Given the description of an element on the screen output the (x, y) to click on. 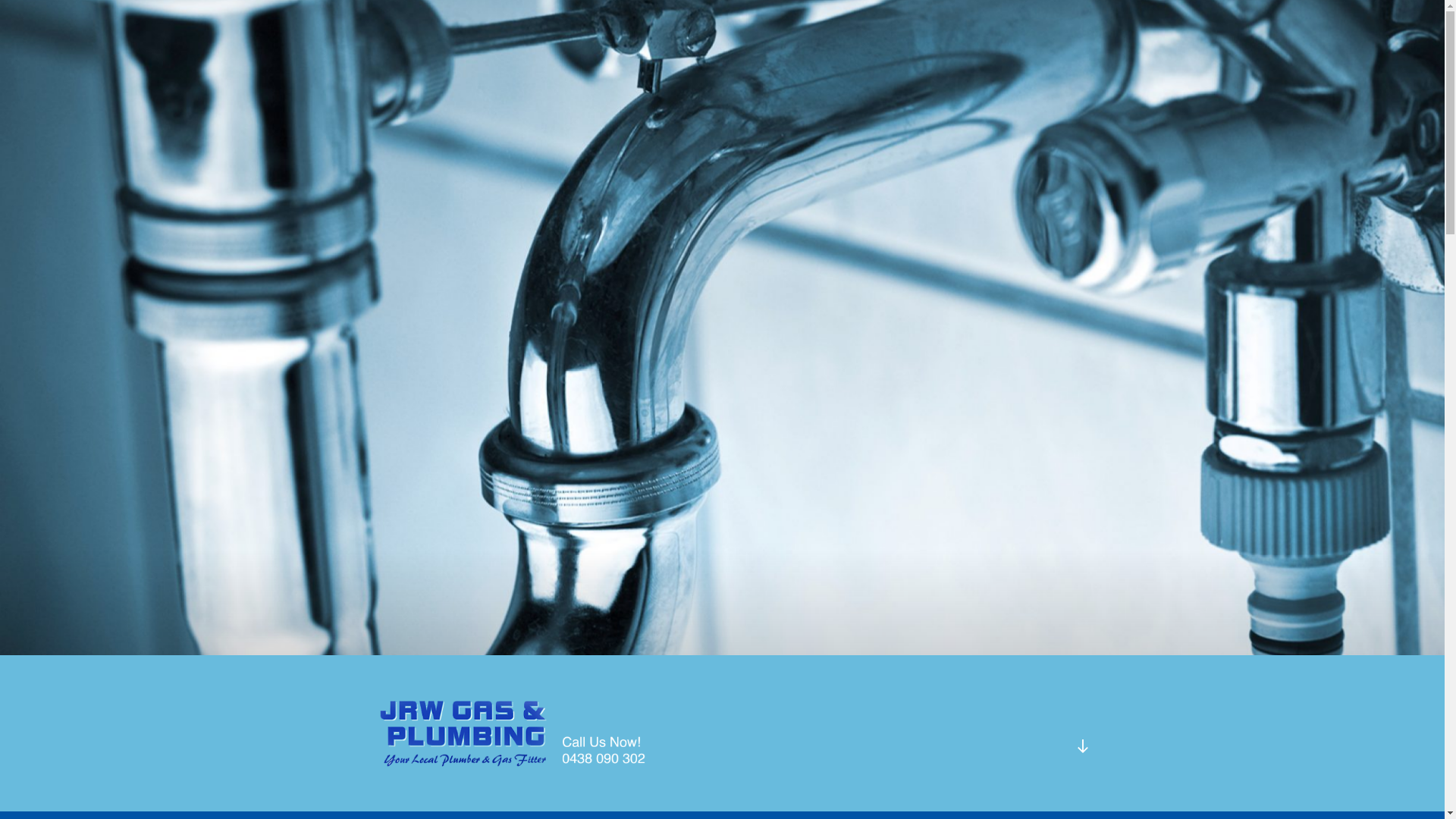
Scroll down to content Element type: text (1082, 745)
JRW GAS AND PLUMBING Element type: text (576, 791)
